Given the description of an element on the screen output the (x, y) to click on. 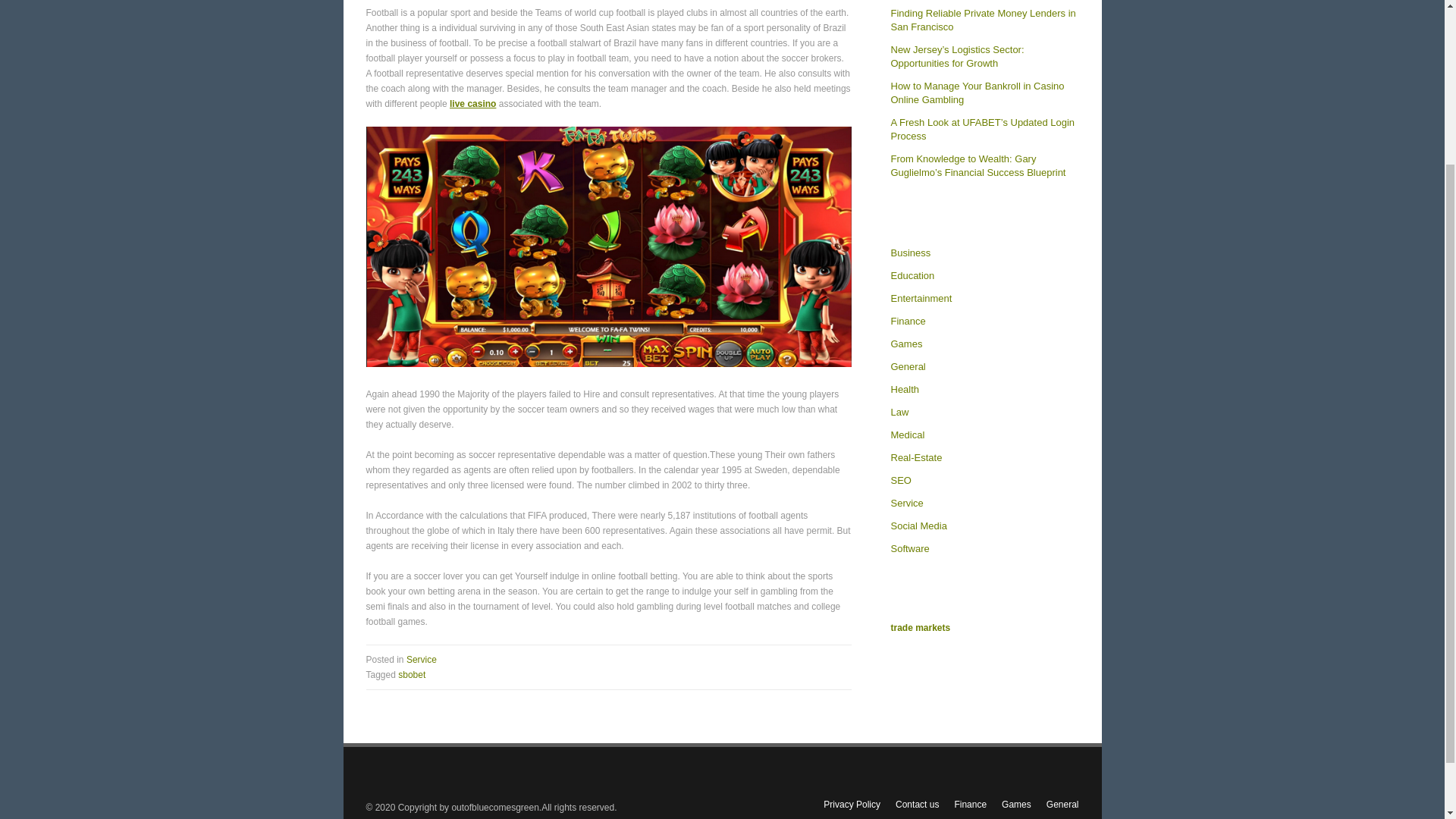
Privacy Policy (852, 804)
Education (911, 275)
Software (908, 549)
SEO (900, 480)
General (906, 366)
How to Manage Your Bankroll in Casino Online Gambling (976, 92)
Finance (906, 321)
Social Media (917, 526)
Games (905, 344)
Law (898, 412)
